Given the description of an element on the screen output the (x, y) to click on. 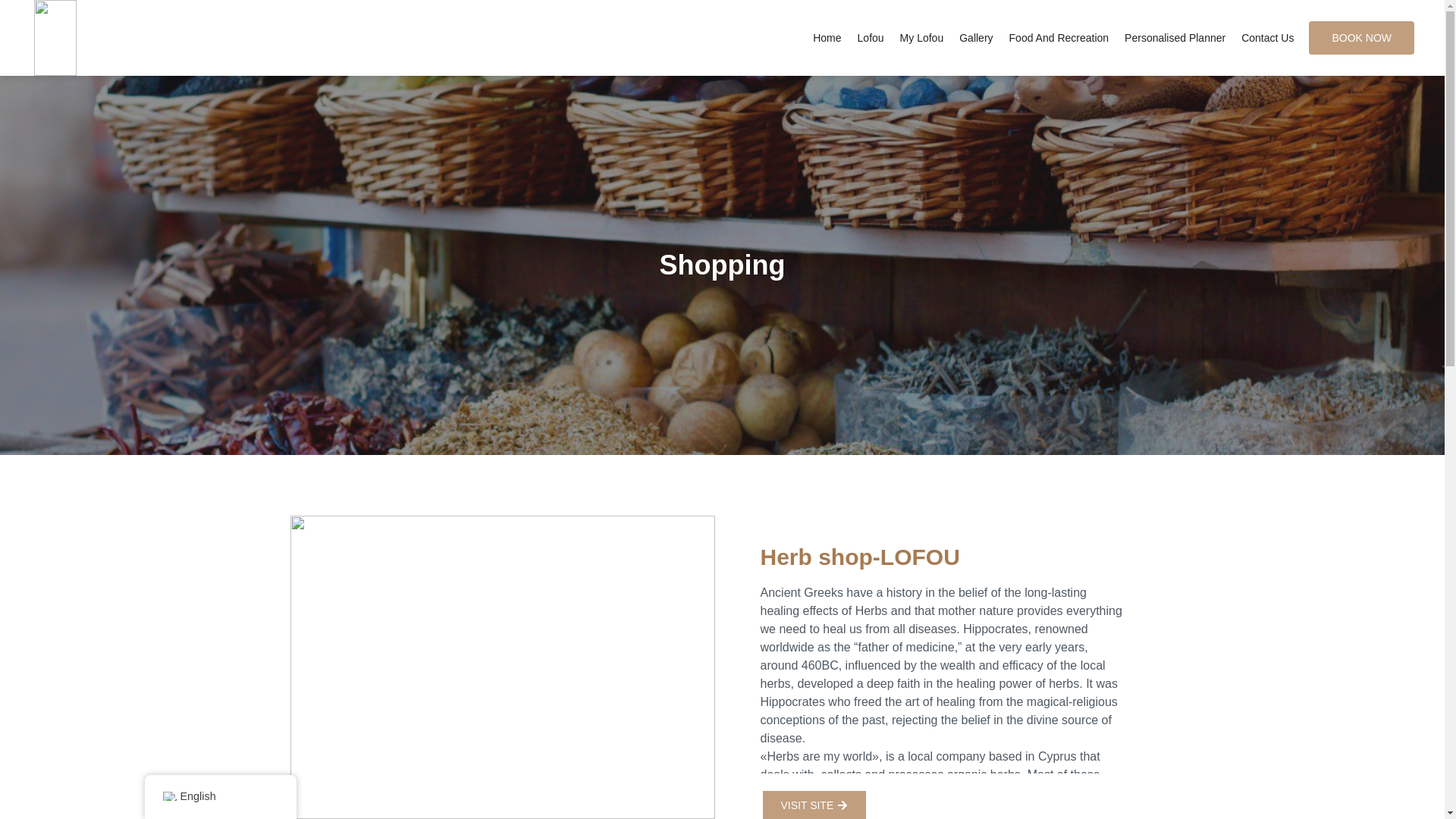
Lofou (870, 37)
Personalised Planner (1174, 37)
Home (826, 37)
Food And Recreation (1058, 37)
Contact Us (1267, 37)
VISIT SITE (813, 803)
English (168, 795)
My Lofou (922, 37)
BOOK NOW (1360, 37)
Gallery (976, 37)
